Given the description of an element on the screen output the (x, y) to click on. 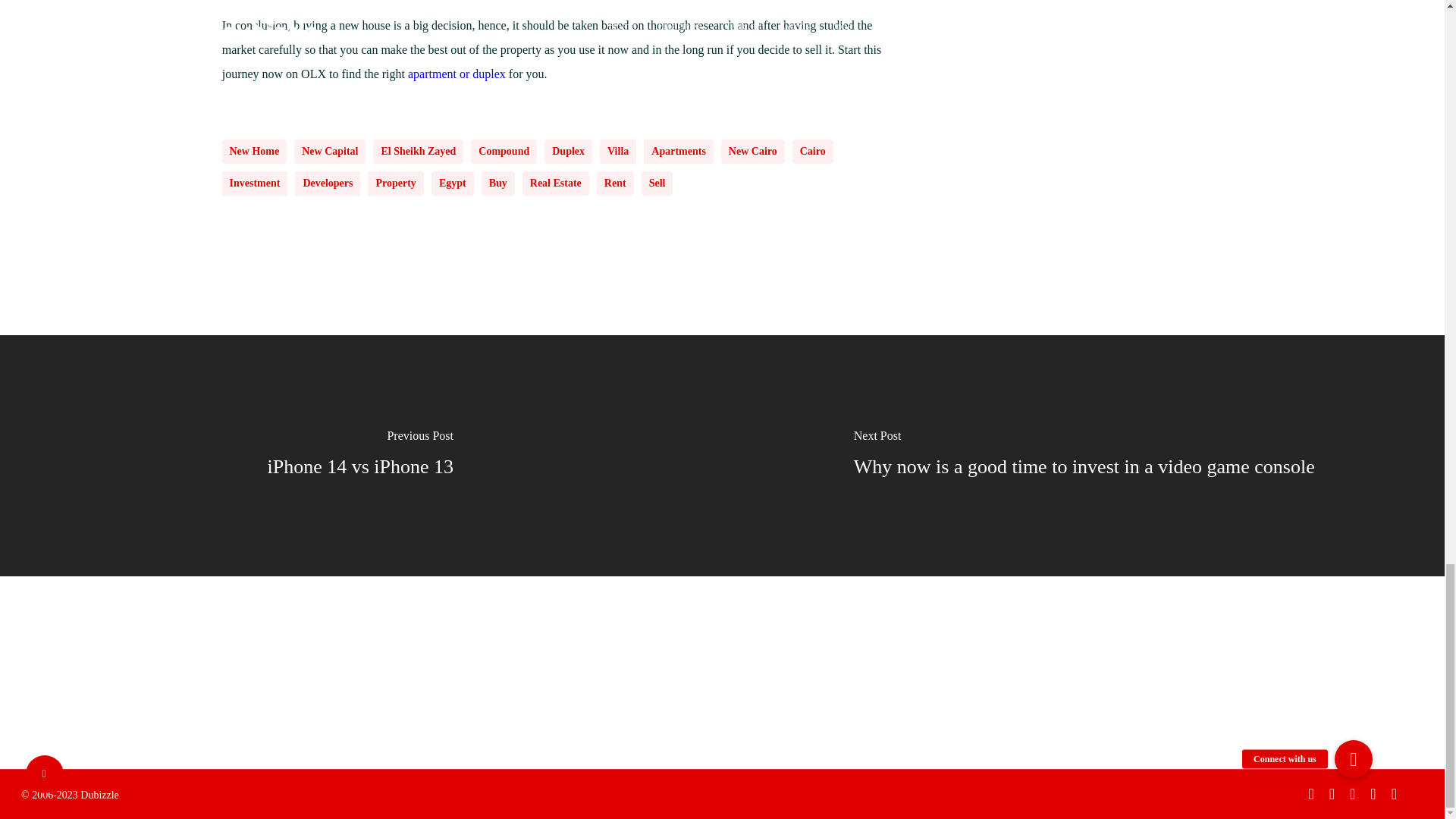
New Home (253, 151)
Compound (503, 151)
Cairo (812, 151)
Villa (617, 151)
Apartments (678, 151)
El Sheikh Zayed (417, 151)
New Cairo (752, 151)
Property (395, 183)
Developers (327, 183)
New Capital (329, 151)
